Given the description of an element on the screen output the (x, y) to click on. 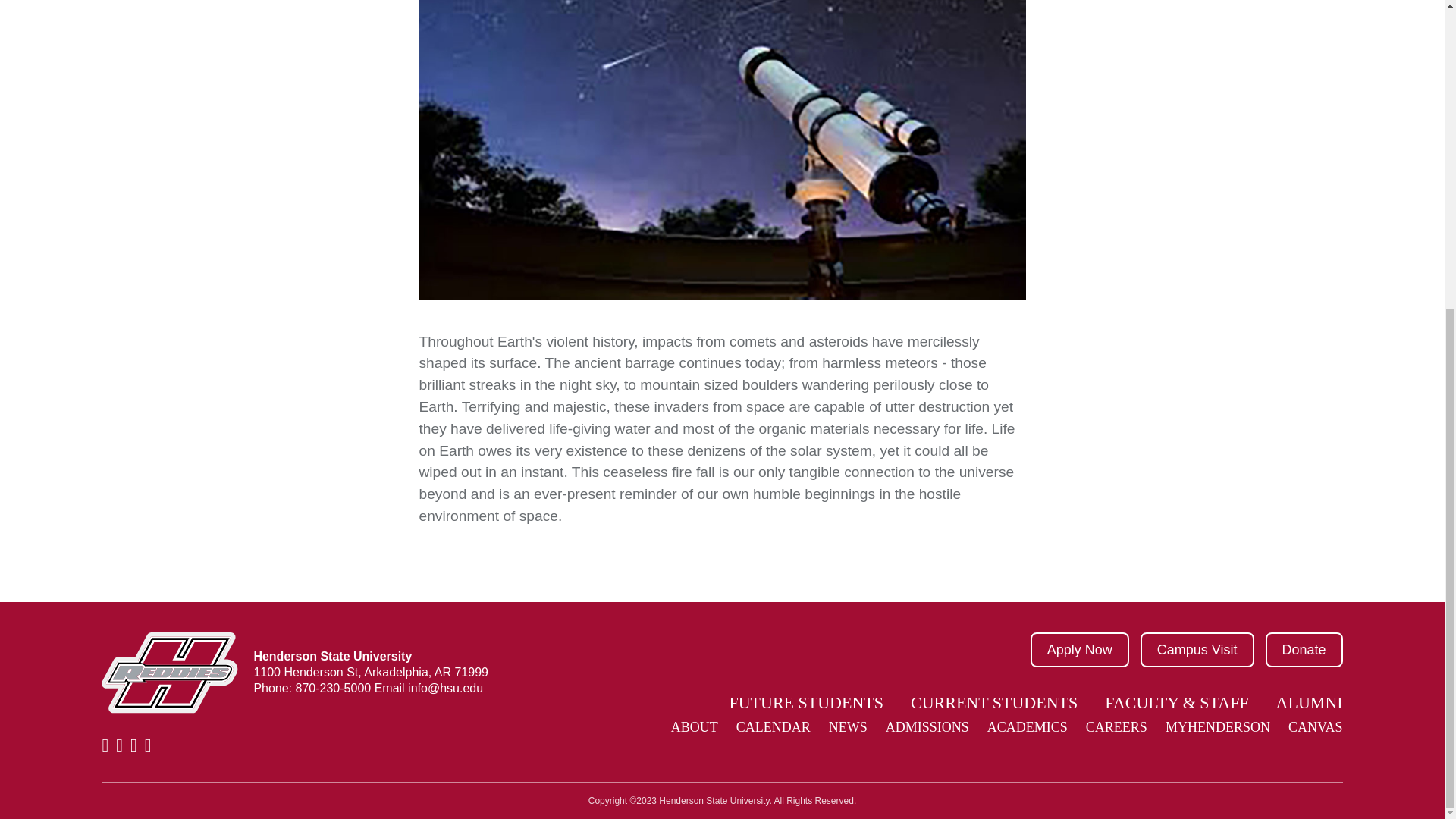
Instagram (133, 744)
Campus Visit (1196, 649)
Donate (1303, 649)
Apply Now (1079, 649)
Flickr (147, 744)
Twitter (119, 744)
870-230-5000 (333, 687)
1100 Henderson St, Arkadelphia, AR 71999 (370, 671)
Facebook (104, 744)
